Given the description of an element on the screen output the (x, y) to click on. 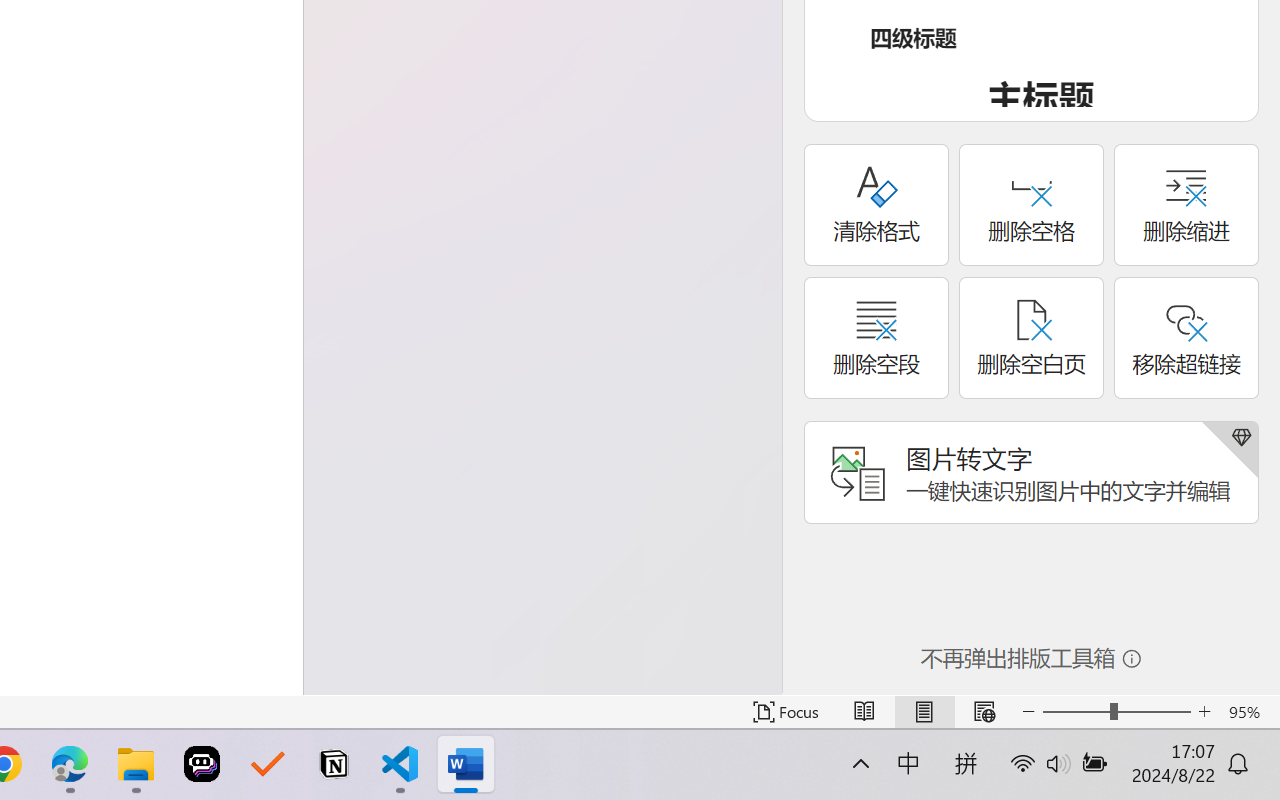
Zoom 95% (1249, 712)
